Given the description of an element on the screen output the (x, y) to click on. 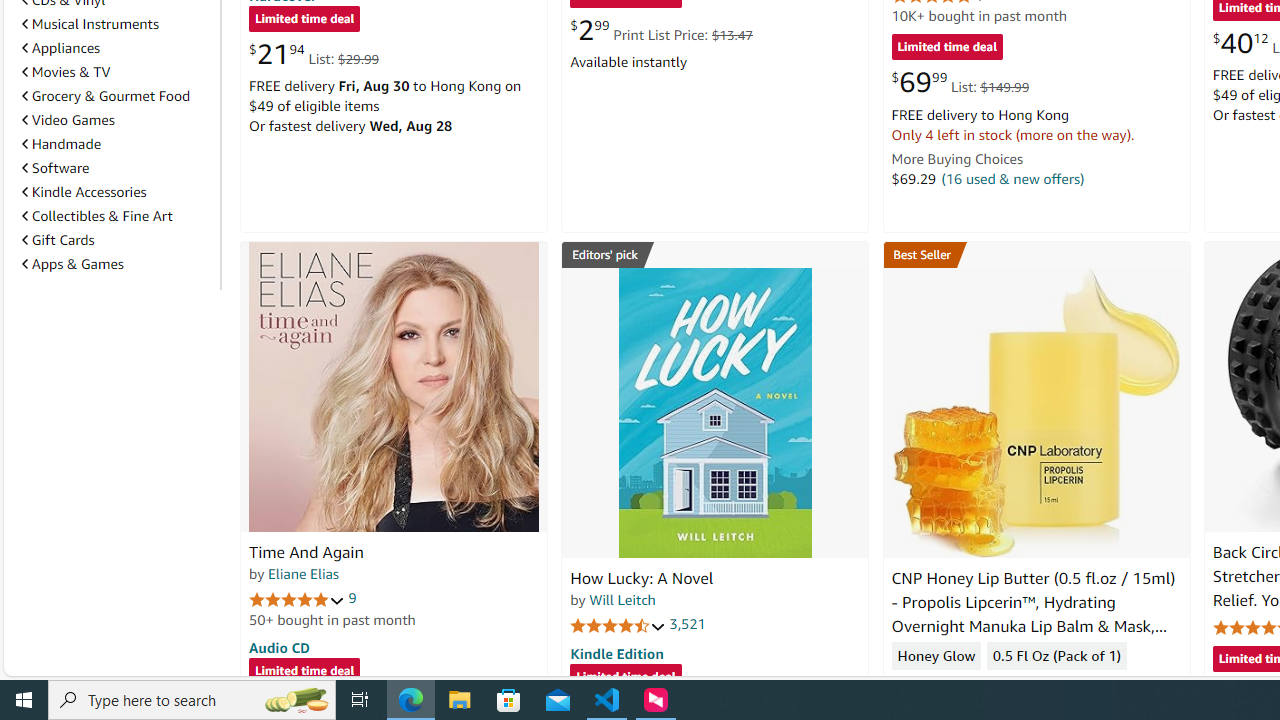
Will Leitch (621, 599)
How Lucky: A Novel (714, 412)
9 (352, 597)
Musical Instruments (117, 23)
$21.94 List: $29.99 (314, 54)
$2.99 Print List Price: $13.47 (660, 30)
$69.99 List: $149.99 (960, 82)
Limited time deal (625, 678)
Grocery & Gourmet Food (105, 96)
Eliane Elias (303, 573)
Appliances (61, 47)
Handmade (117, 143)
Software (55, 168)
Gift Cards (57, 240)
